Given the description of an element on the screen output the (x, y) to click on. 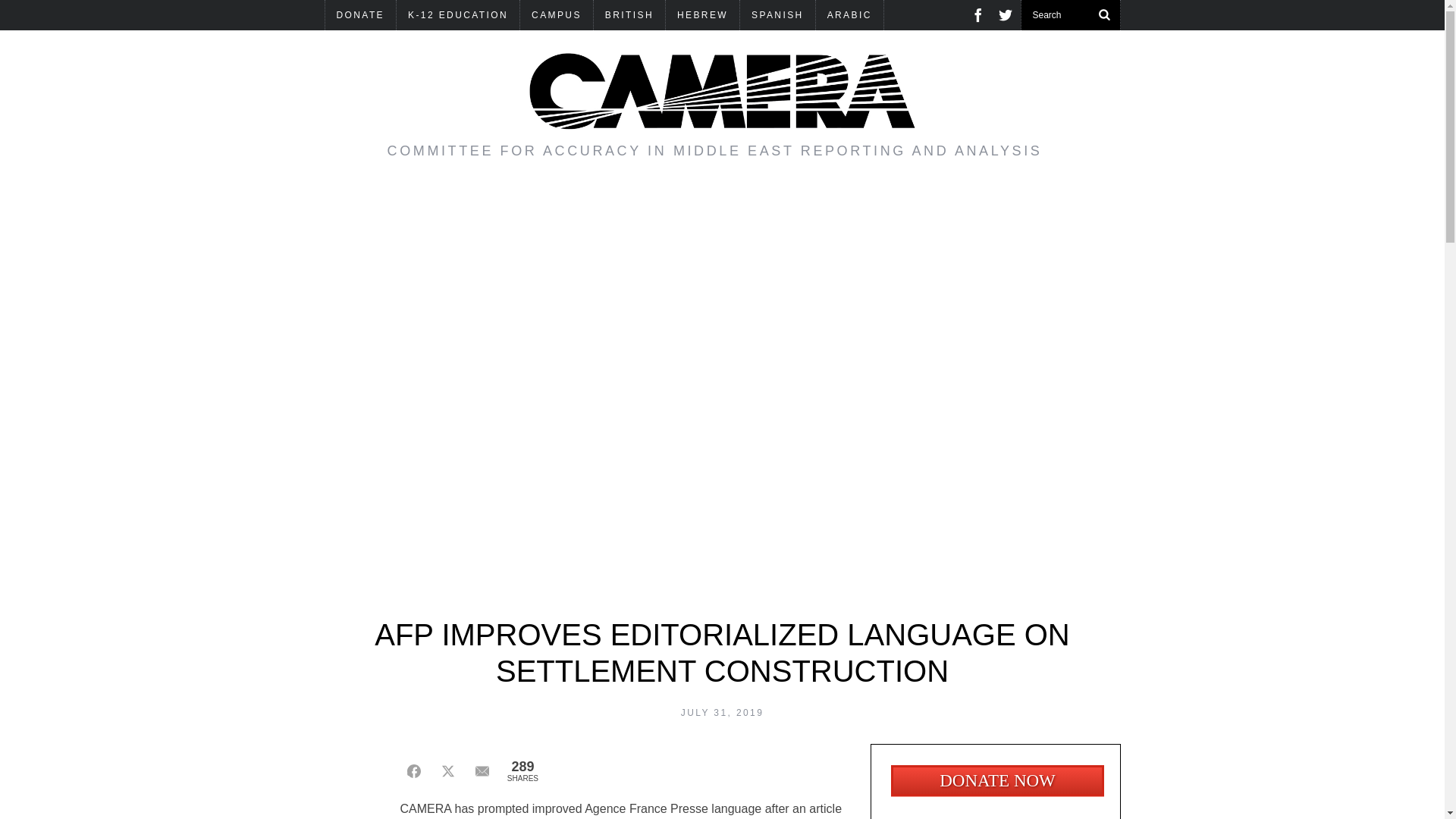
Share on Twitter (447, 770)
K-12 EDUCATION (457, 14)
ARABIC (849, 14)
BRITISH (629, 14)
CAMPUS (555, 14)
Share on E-mail (482, 770)
HEBREW (702, 14)
Share on Facebook (414, 770)
SPANISH (777, 14)
DONATE (360, 14)
Search (1070, 15)
